Given the description of an element on the screen output the (x, y) to click on. 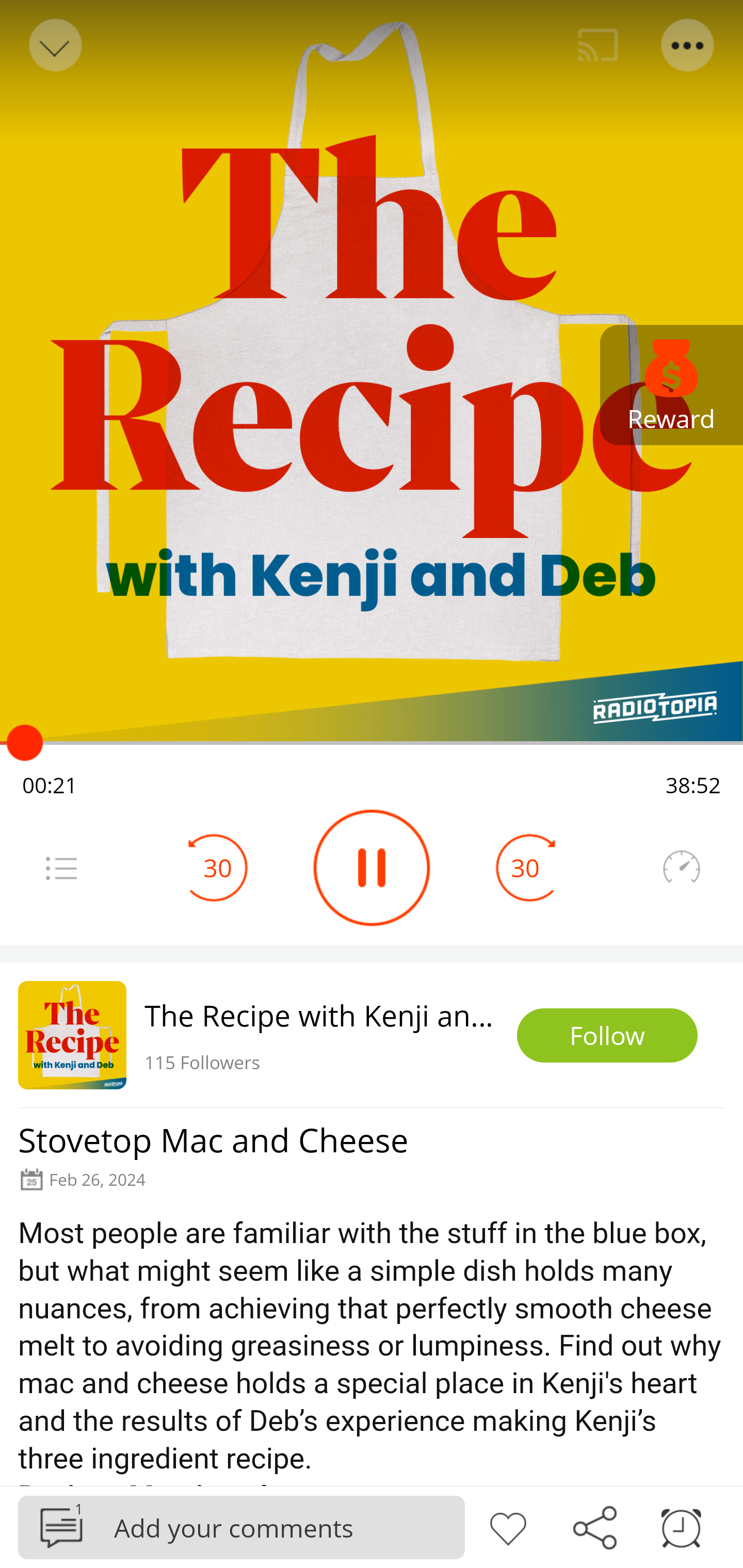
Back (53, 45)
Cast. Disconnected (597, 45)
Menu (688, 45)
Reward (671, 384)
Play (371, 867)
30 Seek Backward (217, 867)
30 Seek Forward (525, 867)
Menu (60, 867)
Speedometer (681, 867)
The Recipe with Kenji and Deb 115 Followers Follow (371, 1034)
Follow (607, 1035)
Like (508, 1526)
Share (594, 1526)
Sleep timer (681, 1526)
Podbean 1 Add your comments (241, 1526)
